Given the description of an element on the screen output the (x, y) to click on. 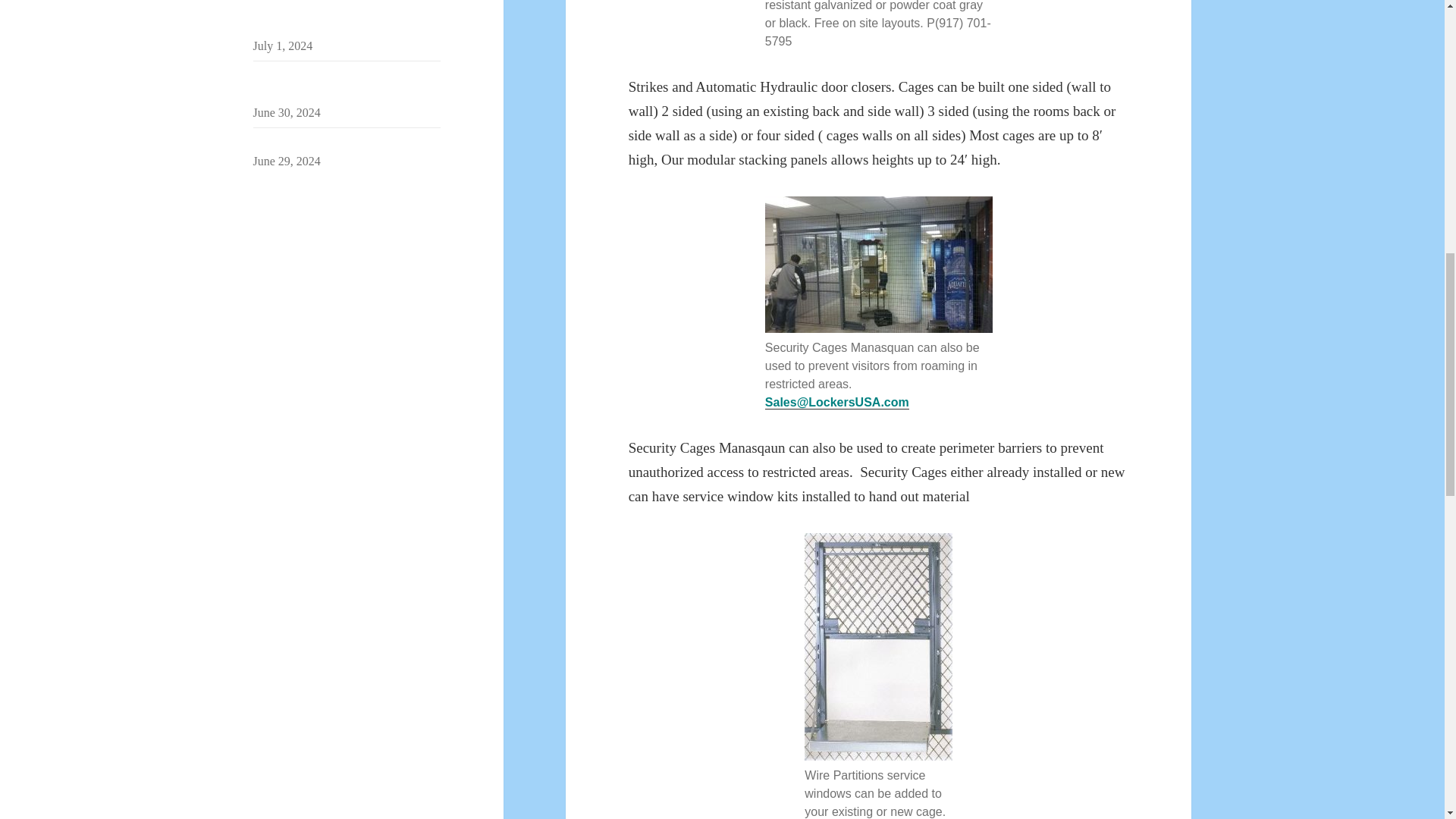
Security Storage Cages Ocean County (346, 142)
Security Storage Cages Monmouth County (338, 84)
Security Storage Cages Middlesex County (336, 18)
